Given the description of an element on the screen output the (x, y) to click on. 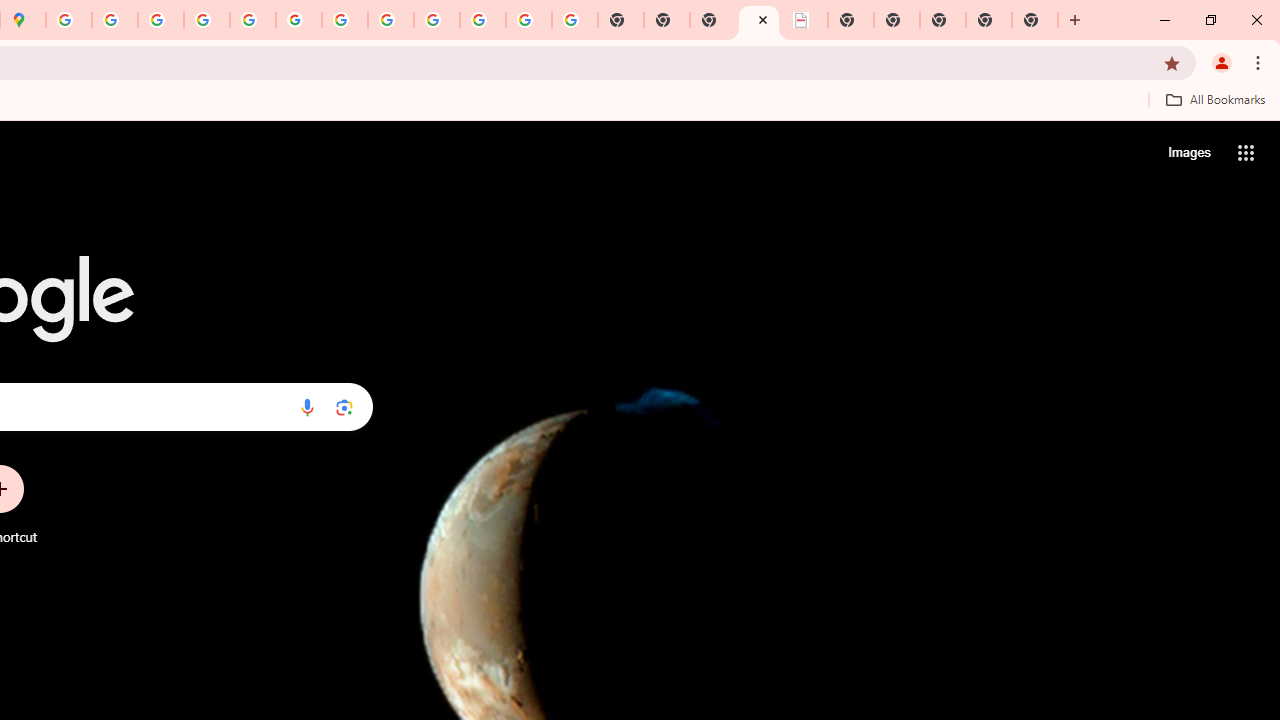
Privacy Help Center - Policies Help (161, 20)
